Given the description of an element on the screen output the (x, y) to click on. 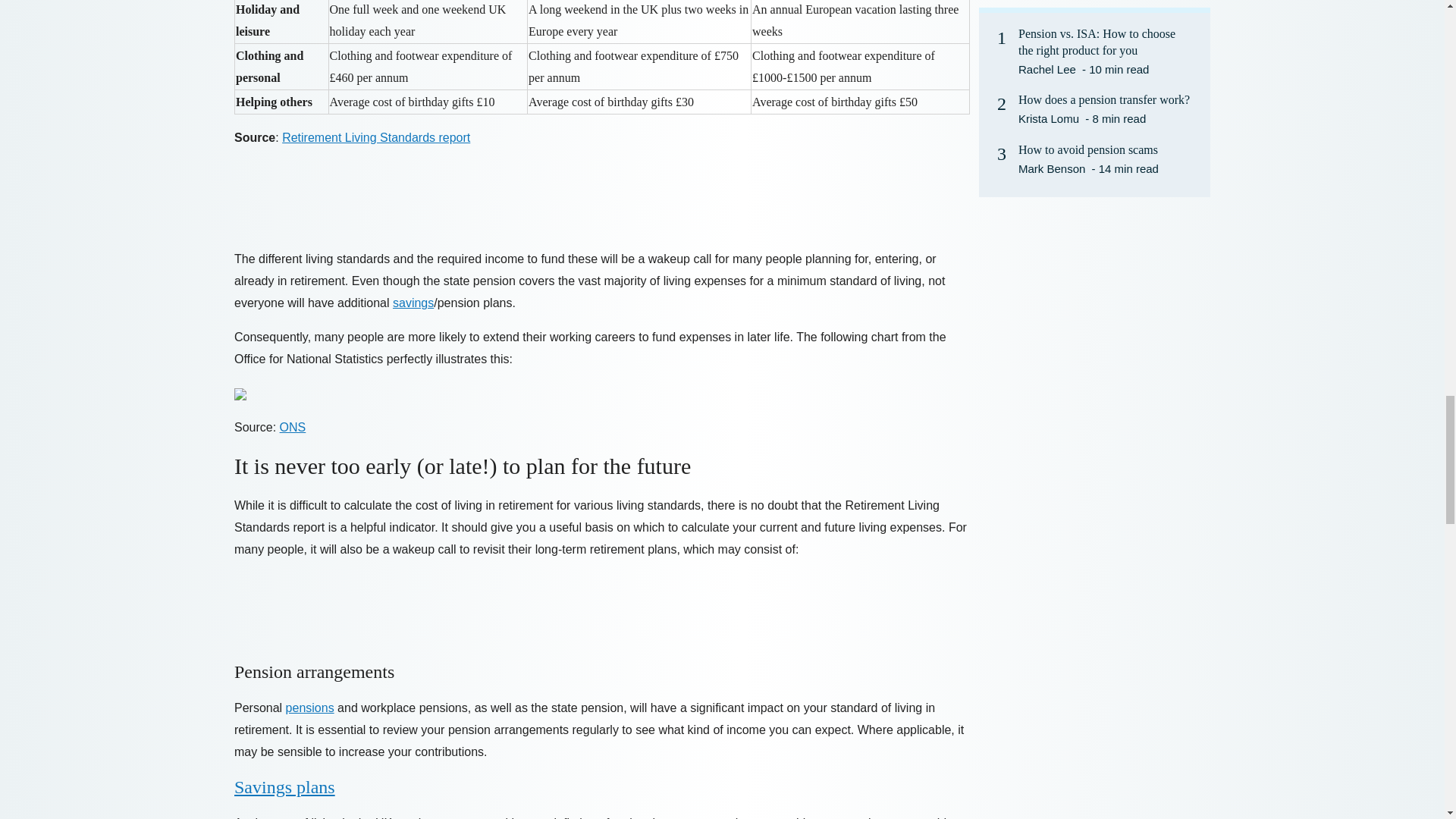
Retirement Living Standards report (376, 137)
savings (413, 302)
Savings plans (284, 786)
ONS (292, 427)
pensions (309, 707)
